Given the description of an element on the screen output the (x, y) to click on. 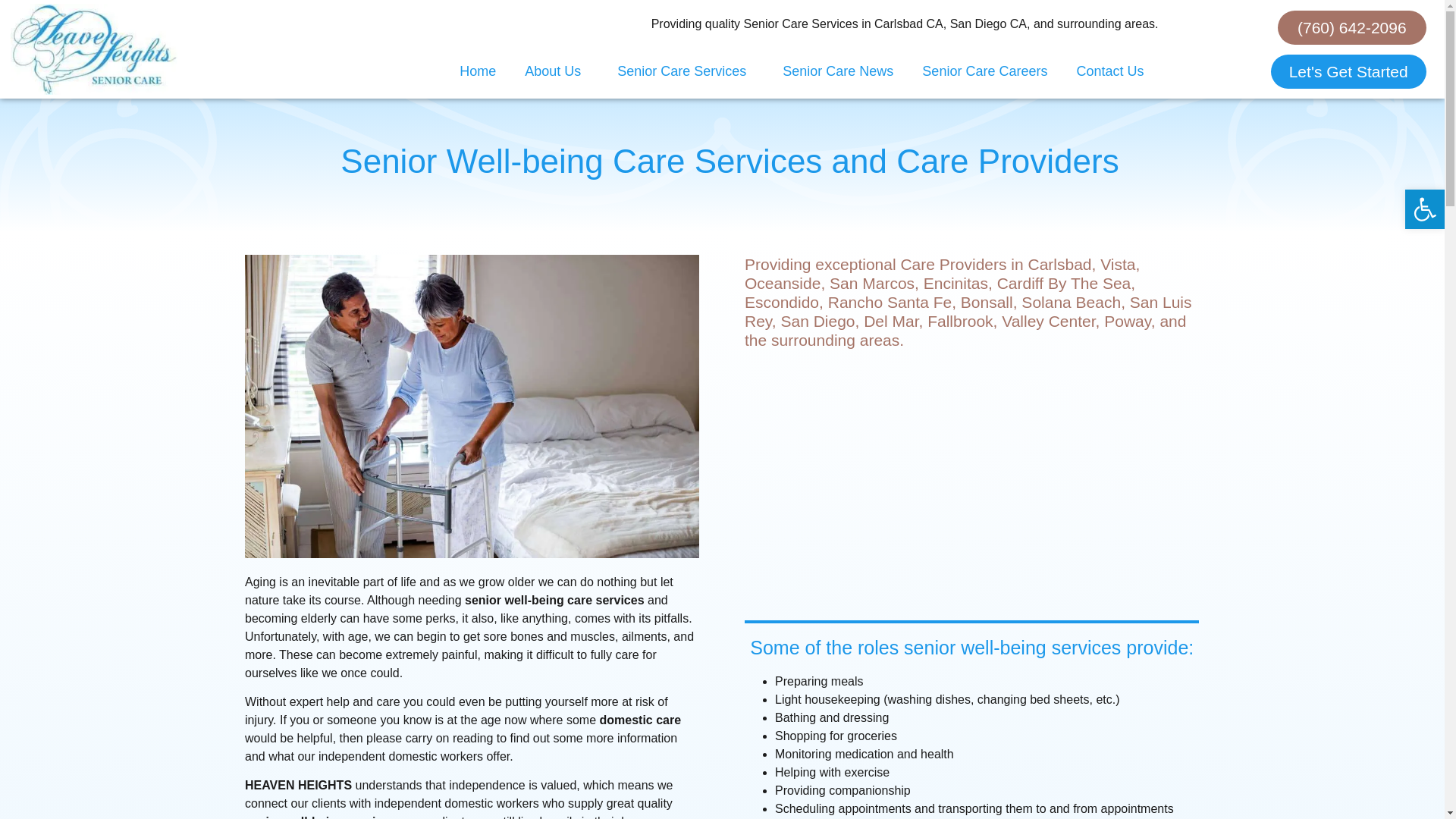
Let's Get Started (1348, 71)
Contact Us (1109, 70)
Senior Care Careers (984, 70)
Senior Care Services (685, 70)
Home (478, 70)
Accessibility Tools (1424, 209)
About Us (556, 70)
Senior Care News (837, 70)
